Given the description of an element on the screen output the (x, y) to click on. 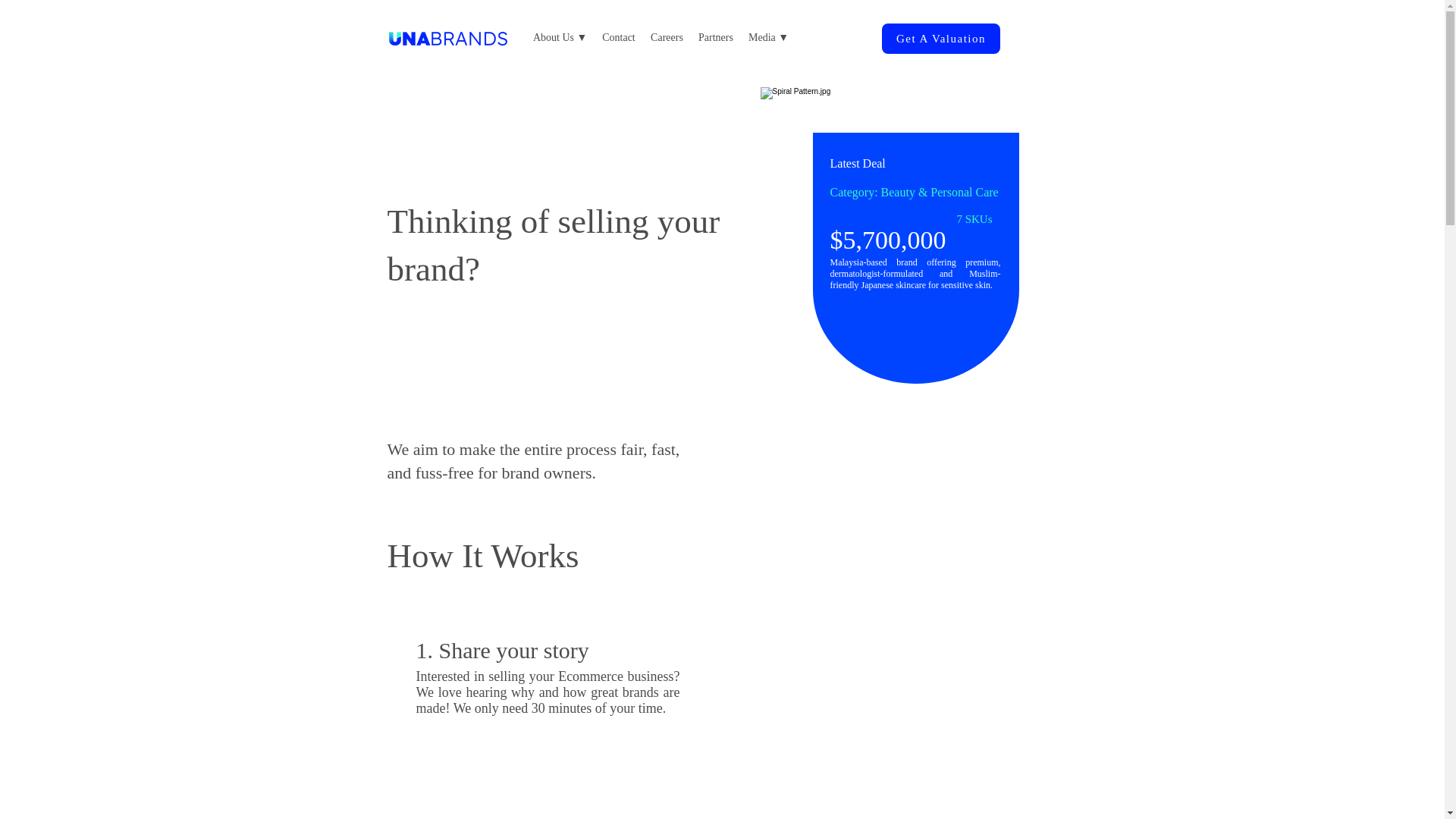
Get A Valuation (939, 38)
Contact (618, 37)
Careers (666, 37)
Partners (715, 37)
Una Brands2000x250.png (447, 38)
